Given the description of an element on the screen output the (x, y) to click on. 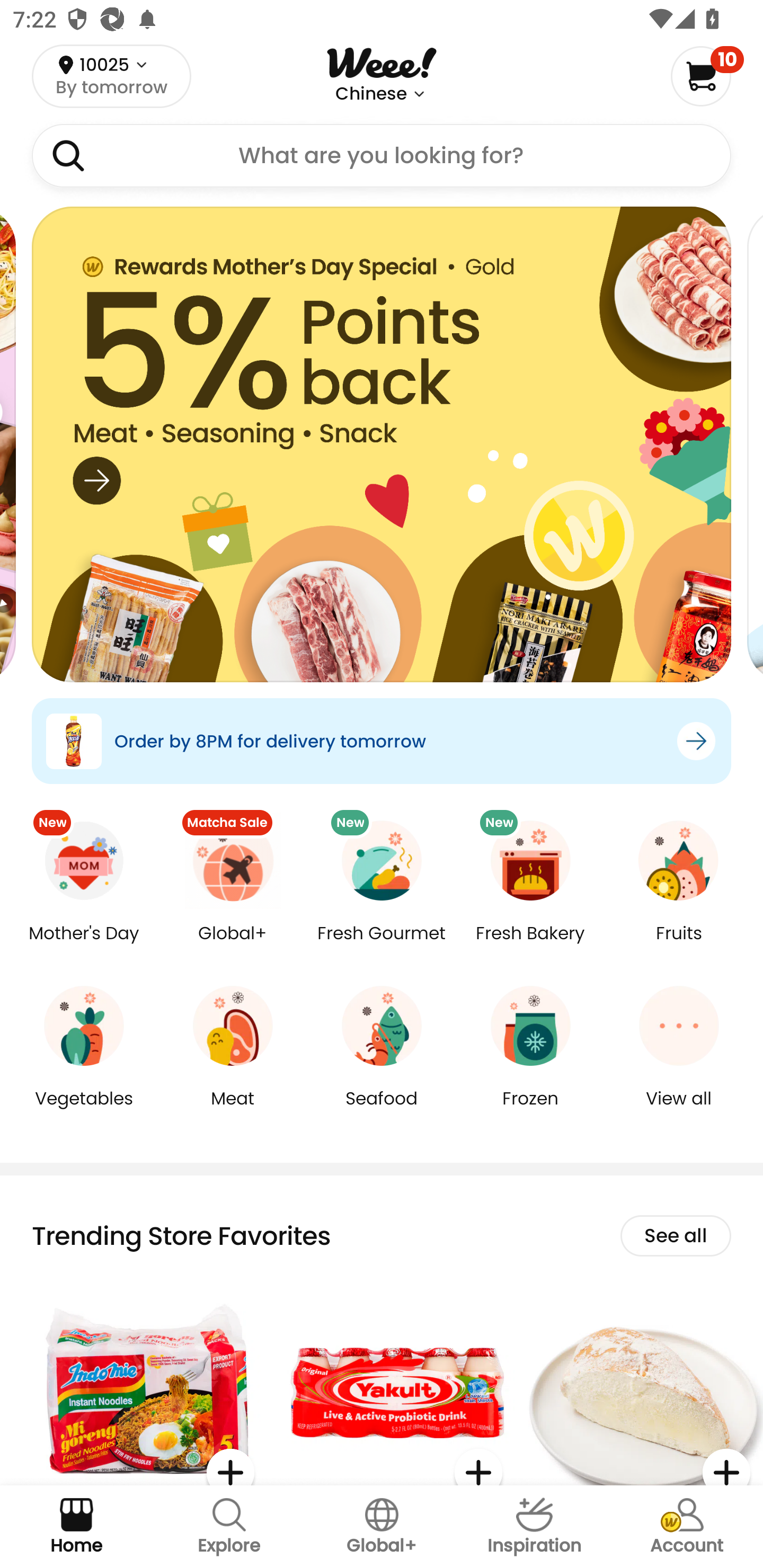
10025 By tomorrow (111, 75)
10 (706, 75)
Chinese (370, 93)
What are you looking for? (381, 155)
Order by 8PM for delivery tomorrow (381, 740)
Mother's Day (83, 946)
Global+ (232, 946)
Fresh Gourmet (381, 946)
Fresh Bakery (530, 946)
Fruits (678, 946)
Vegetables (83, 1111)
Meat (232, 1111)
Seafood (381, 1111)
Frozen (530, 1111)
View all (678, 1111)
Home (76, 1526)
Explore (228, 1526)
Global+ (381, 1526)
Inspiration (533, 1526)
Account (686, 1526)
